Given the description of an element on the screen output the (x, y) to click on. 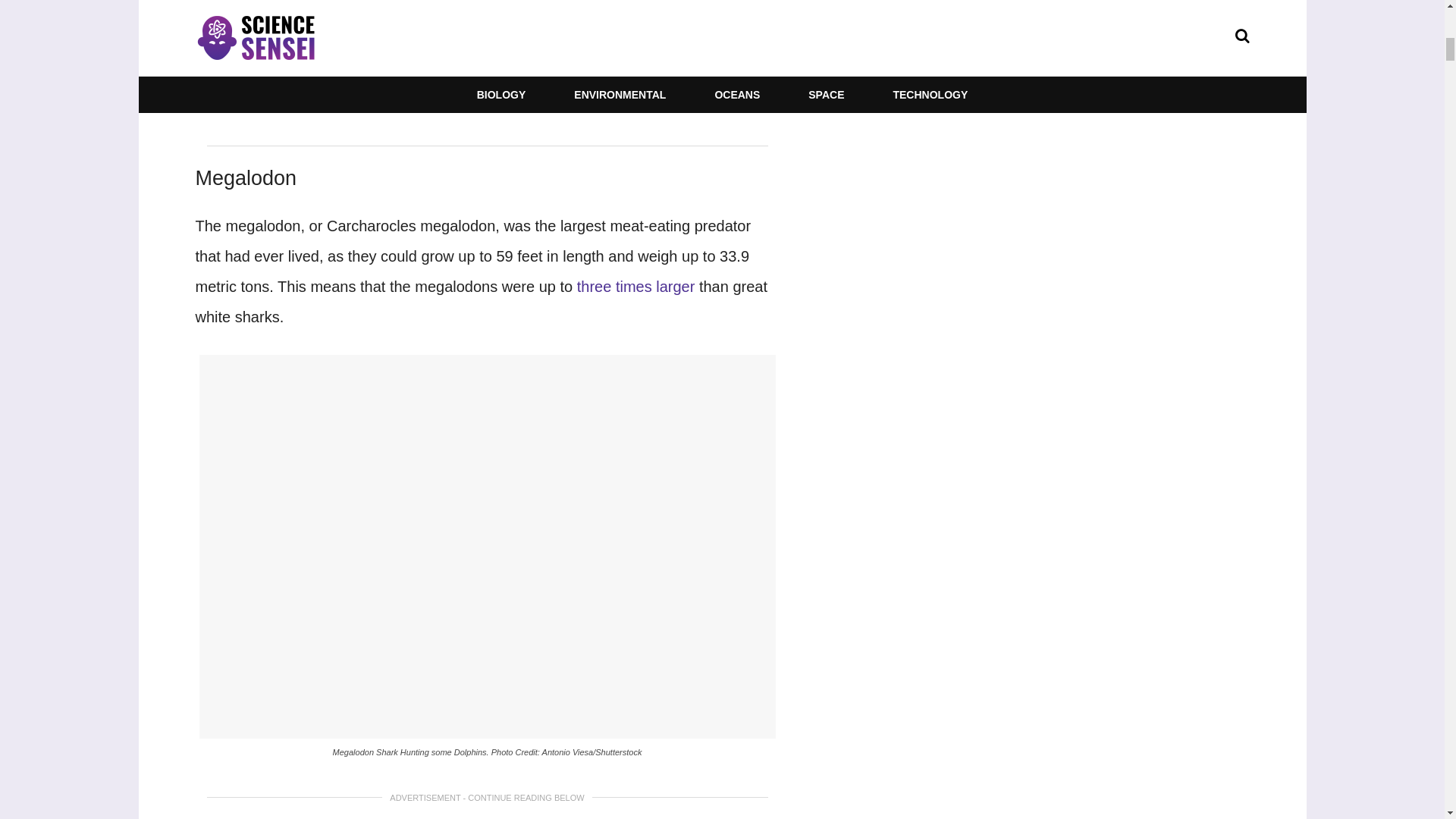
three times larger (635, 286)
